Given the description of an element on the screen output the (x, y) to click on. 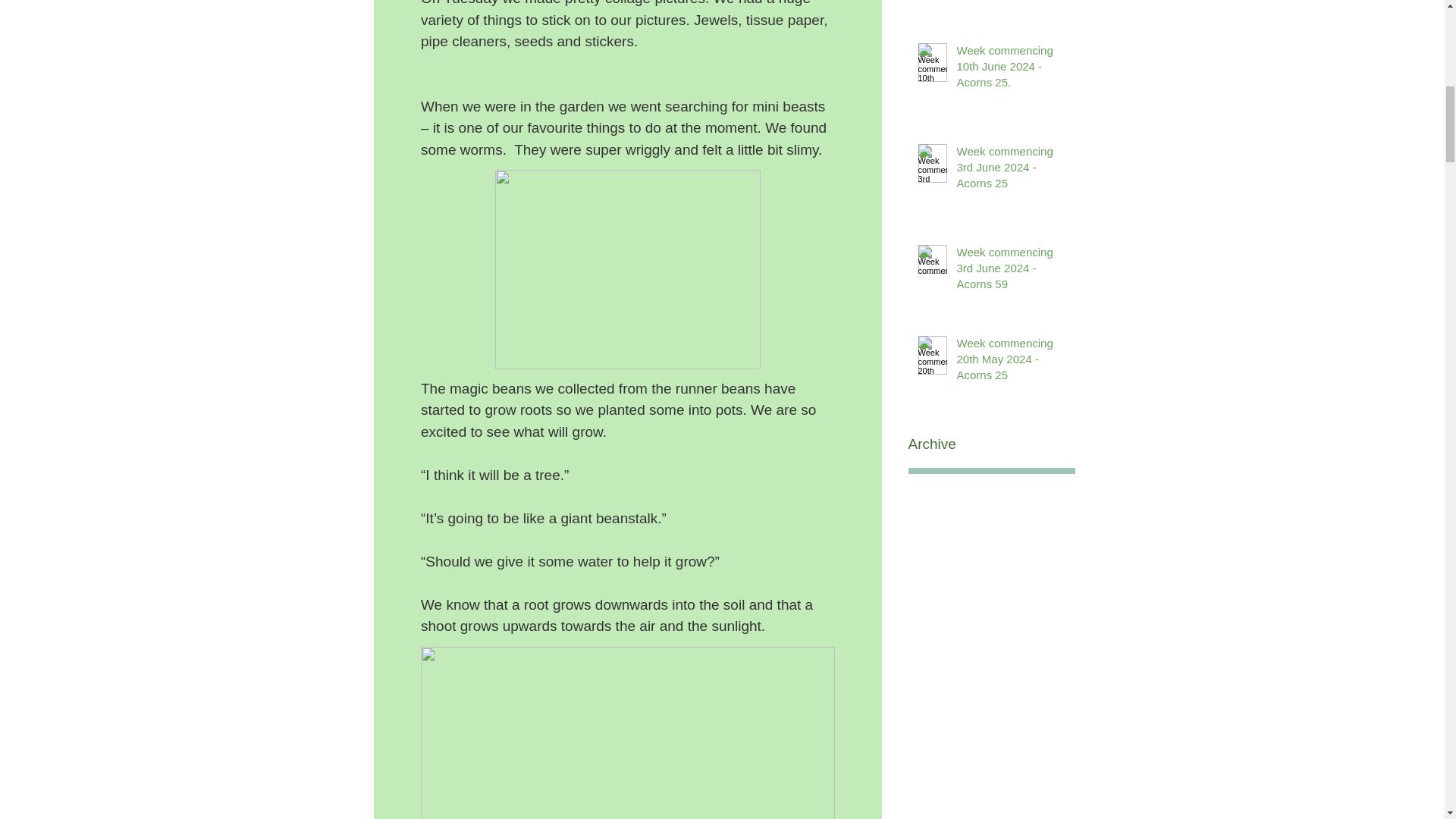
Week commencing 3rd June 2024 - Acorns 25 (1010, 170)
Week commencing 20th May 2024 - Acorns 25 (1010, 361)
Week commencing 10th June 2024 - Acorns 25. (1010, 69)
Week commencing 3rd June 2024 - Acorns 59 (1010, 271)
